Given the description of an element on the screen output the (x, y) to click on. 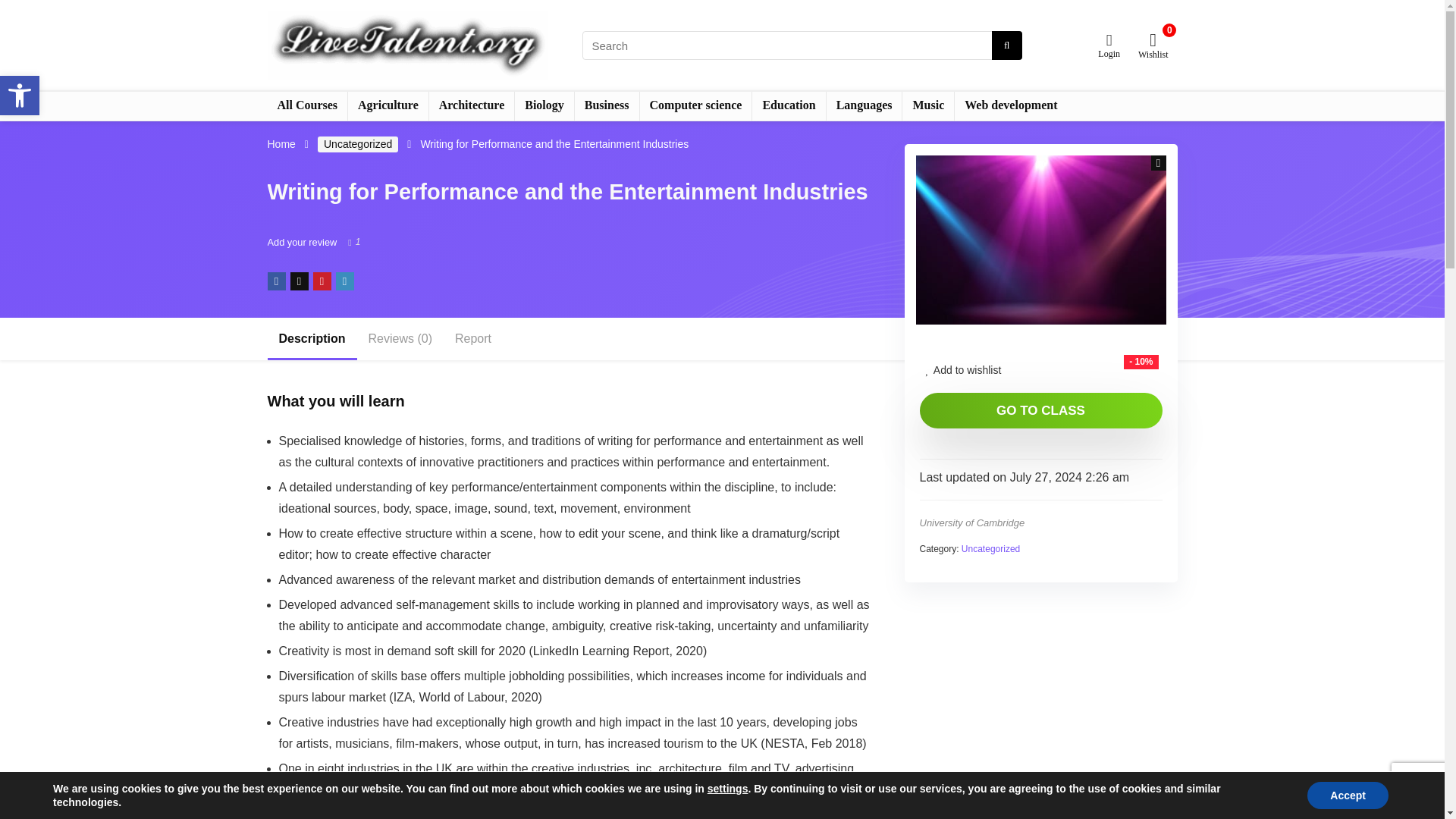
Uncategorized (990, 548)
Writing for Performance and the Entertainment Industries (1040, 239)
Biology (544, 105)
Report (473, 338)
GO TO CLASS (1039, 410)
University of Cambridge (19, 95)
Description (971, 522)
Education (311, 338)
Accessibility Tools (788, 105)
Add your review (19, 95)
Music (301, 242)
Uncategorized (927, 105)
Languages (357, 144)
Computer science (864, 105)
